Given the description of an element on the screen output the (x, y) to click on. 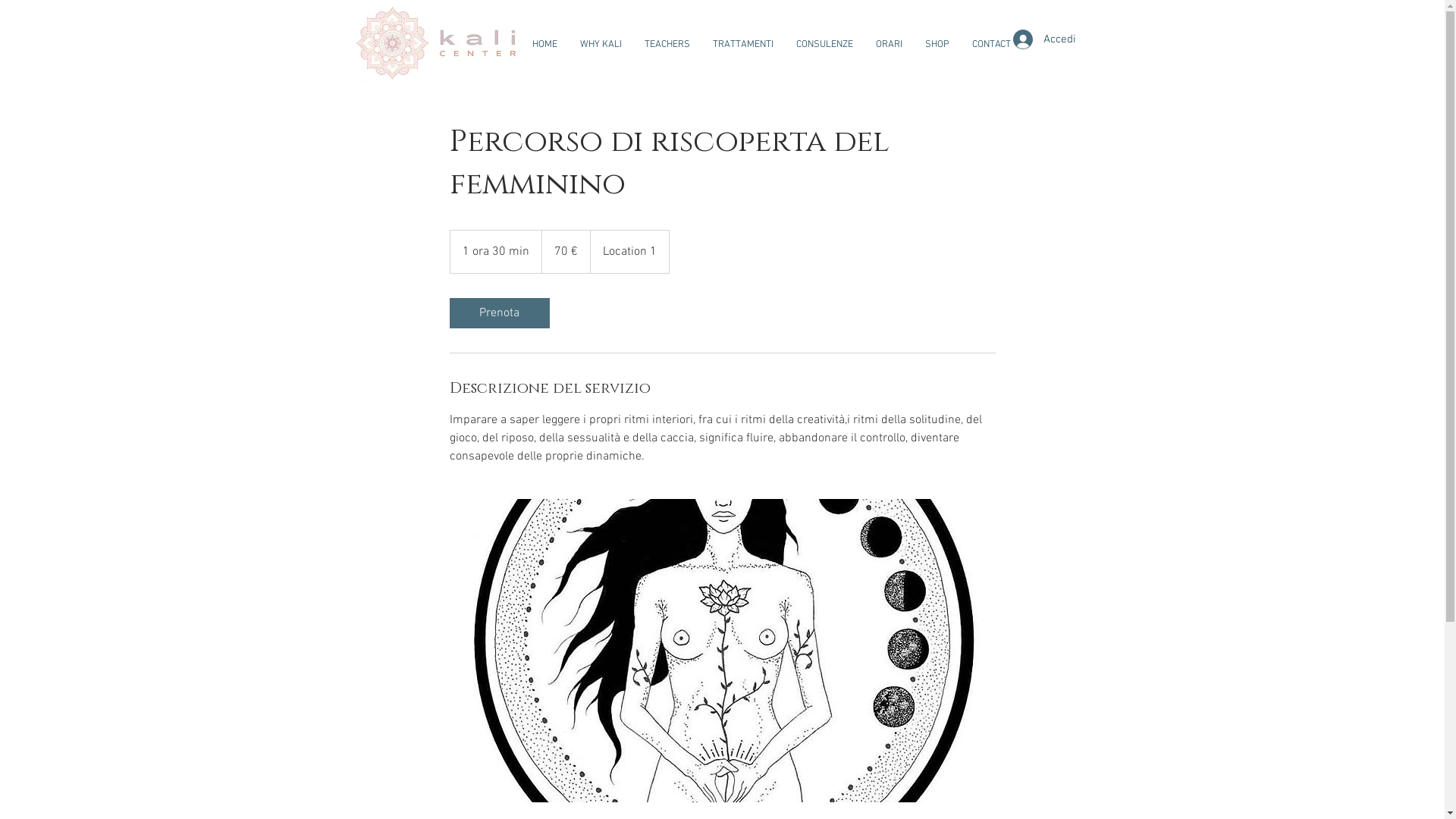
CONTACT Element type: text (990, 44)
TEACHERS Element type: text (666, 44)
Accedi Element type: text (1044, 39)
Prenota Element type: text (498, 313)
WHY KALI Element type: text (600, 44)
HOME Element type: text (543, 44)
TRATTAMENTI Element type: text (742, 44)
CONSULENZE Element type: text (823, 44)
SHOP Element type: text (936, 44)
ORARI Element type: text (888, 44)
